Given the description of an element on the screen output the (x, y) to click on. 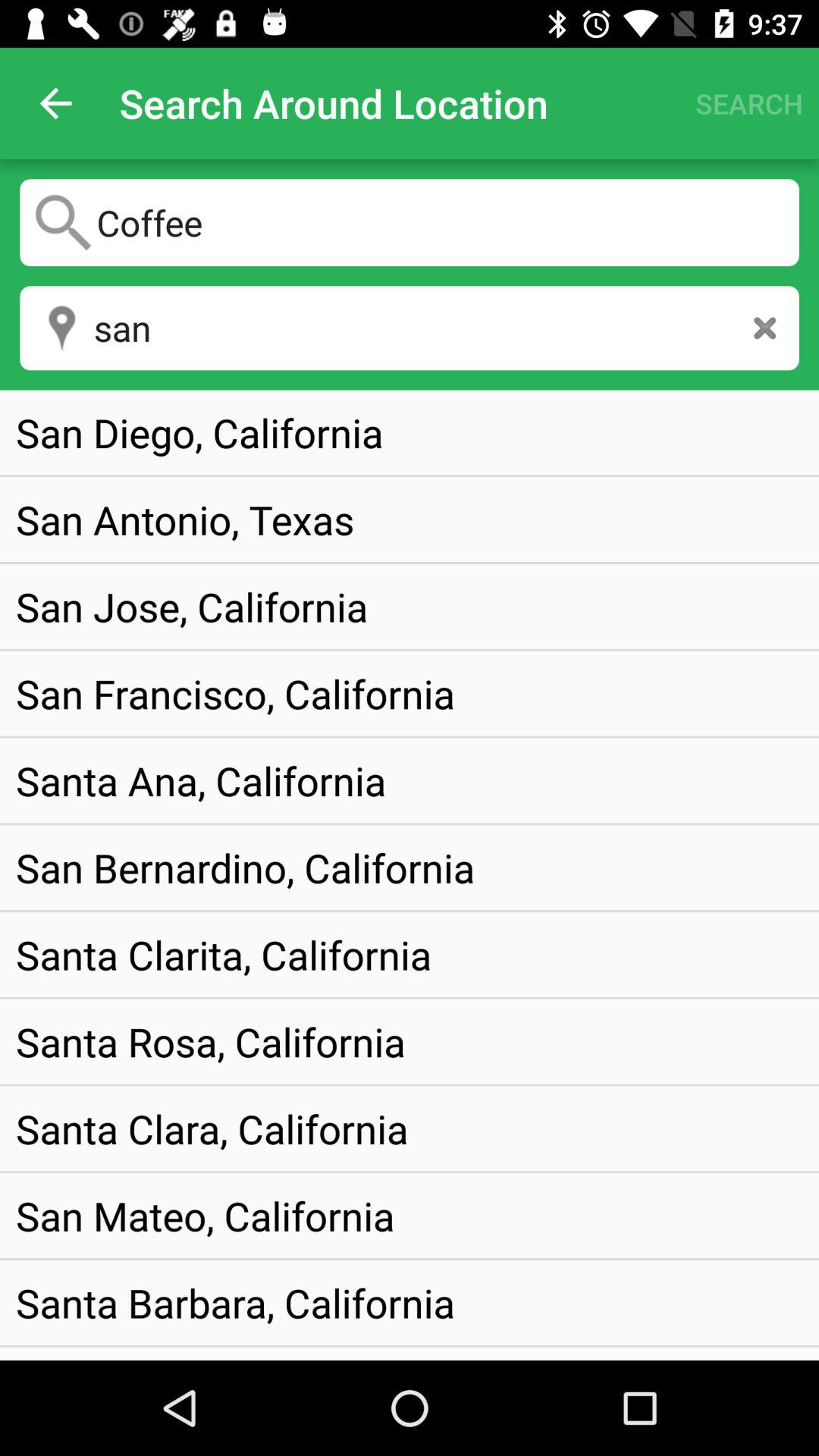
choose the icon below san bernardino, california (223, 954)
